Given the description of an element on the screen output the (x, y) to click on. 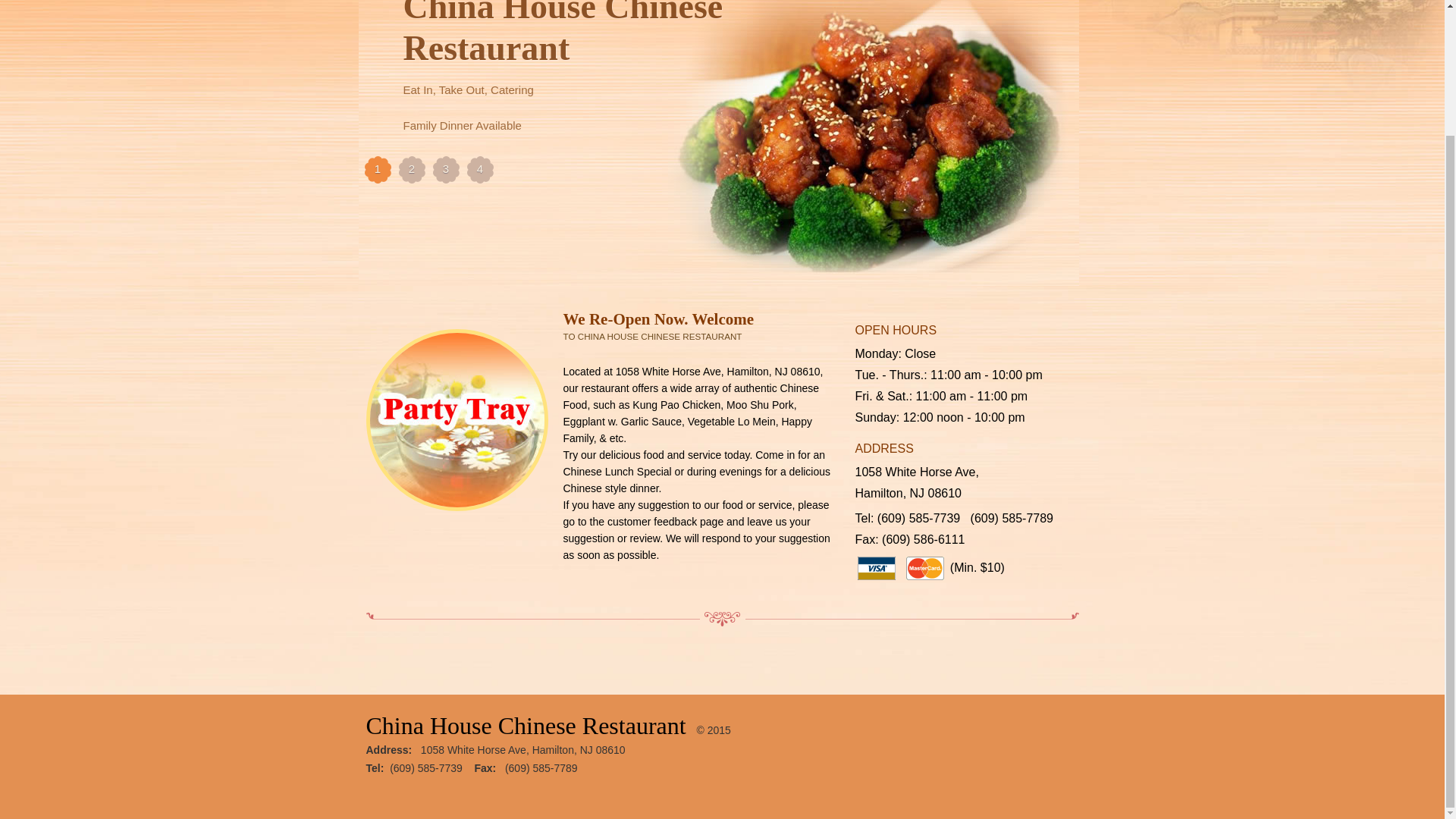
4 (480, 169)
1 (377, 169)
2 (411, 169)
3 (445, 169)
China House Chinese Restaurant (525, 725)
